Given the description of an element on the screen output the (x, y) to click on. 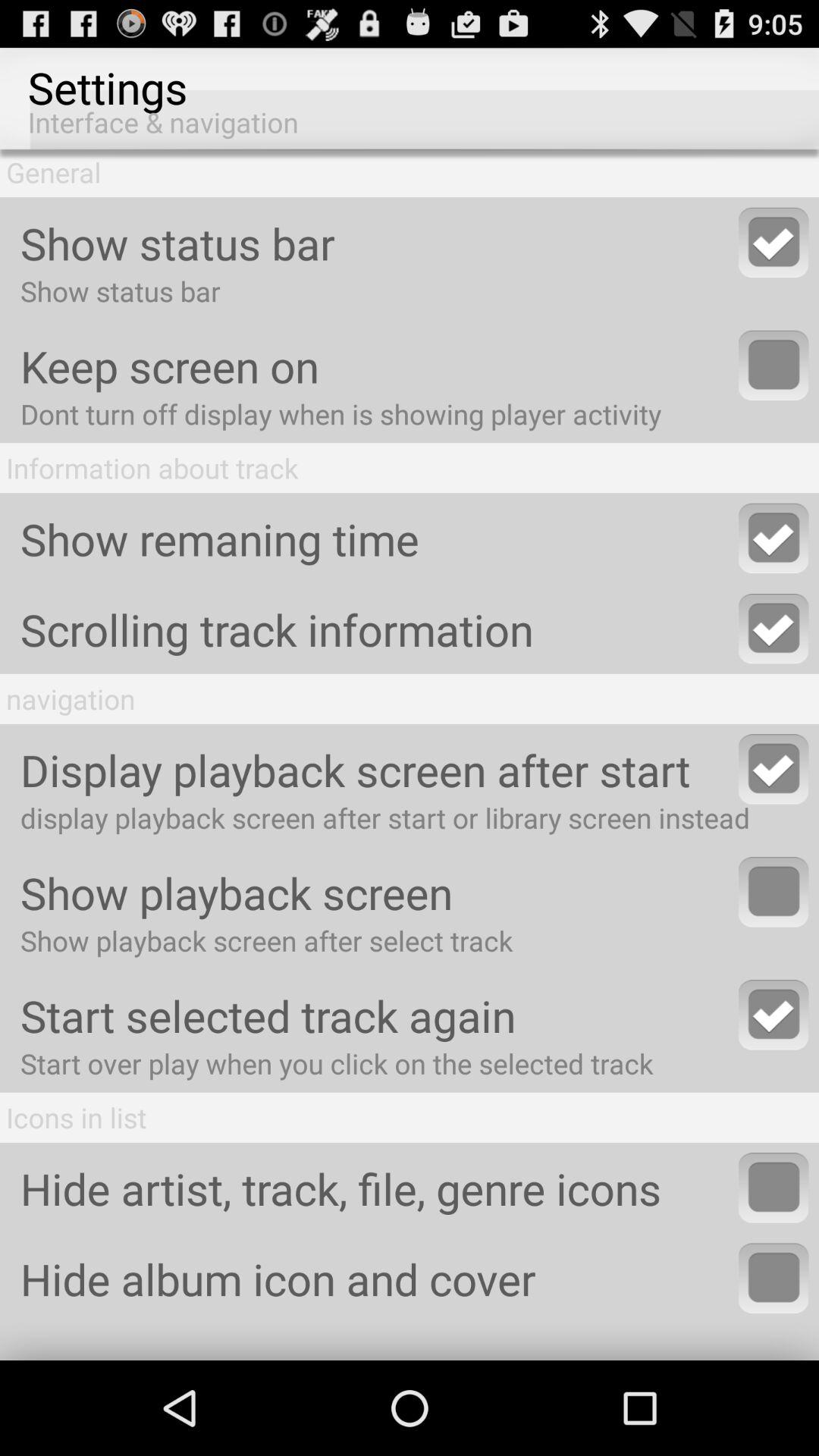
toggle display playback screen after start (773, 769)
